Given the description of an element on the screen output the (x, y) to click on. 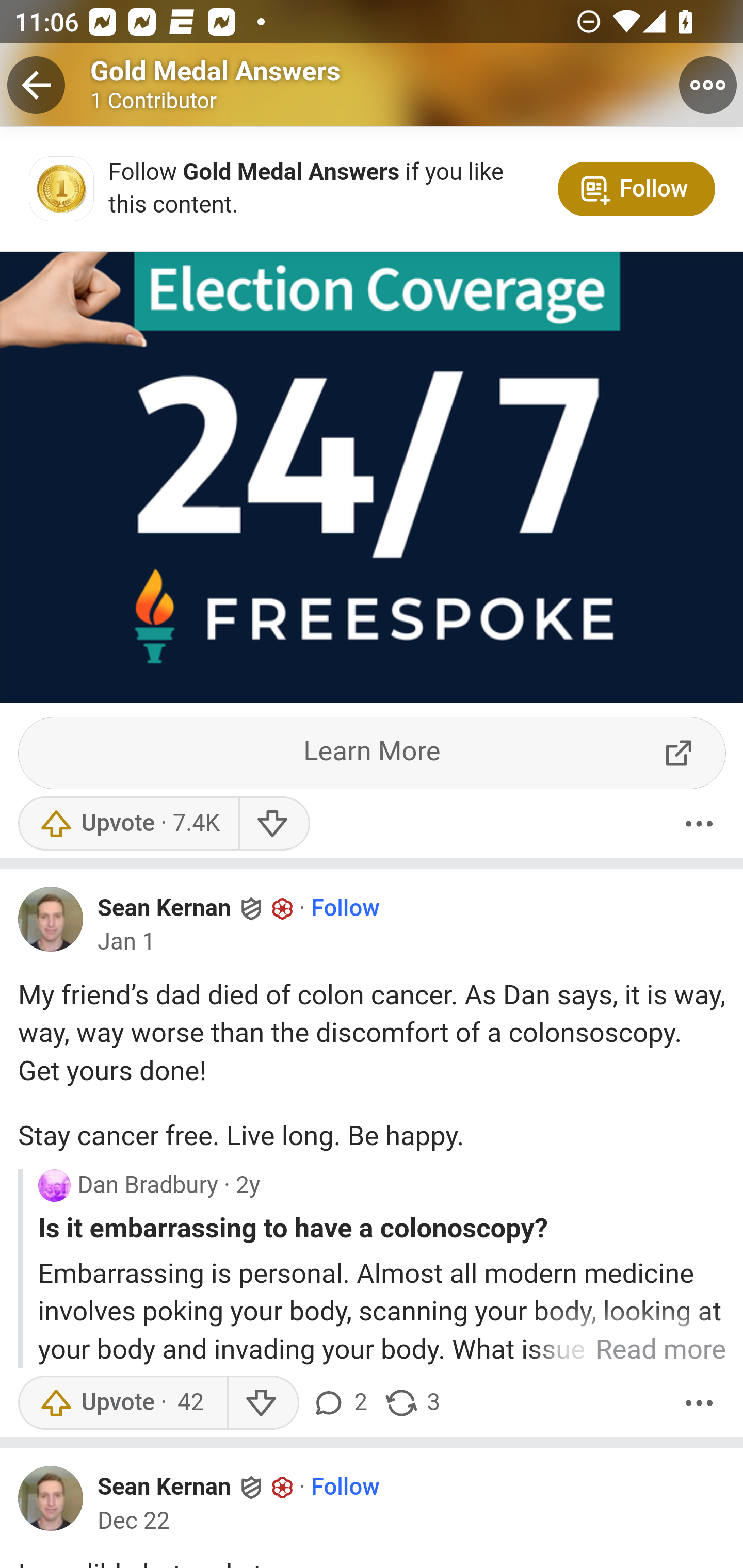
Learn More ExternalLink (372, 753)
Upvote (127, 823)
Downvote (273, 823)
More (699, 823)
Profile photo for Sean Kernan (50, 919)
Sean Kernan Sean Kernan     Space subscriber (195, 907)
Follow (345, 908)
Space subscriber (282, 908)
Profile photo for Dan Bradbury (54, 1186)
Upvote (122, 1403)
Downvote (262, 1403)
2 comments (342, 1403)
3 shares (411, 1403)
More (699, 1403)
Profile photo for Sean Kernan (50, 1498)
Sean Kernan Sean Kernan     Space subscriber (195, 1487)
Follow (345, 1487)
Space subscriber (282, 1488)
